Given the description of an element on the screen output the (x, y) to click on. 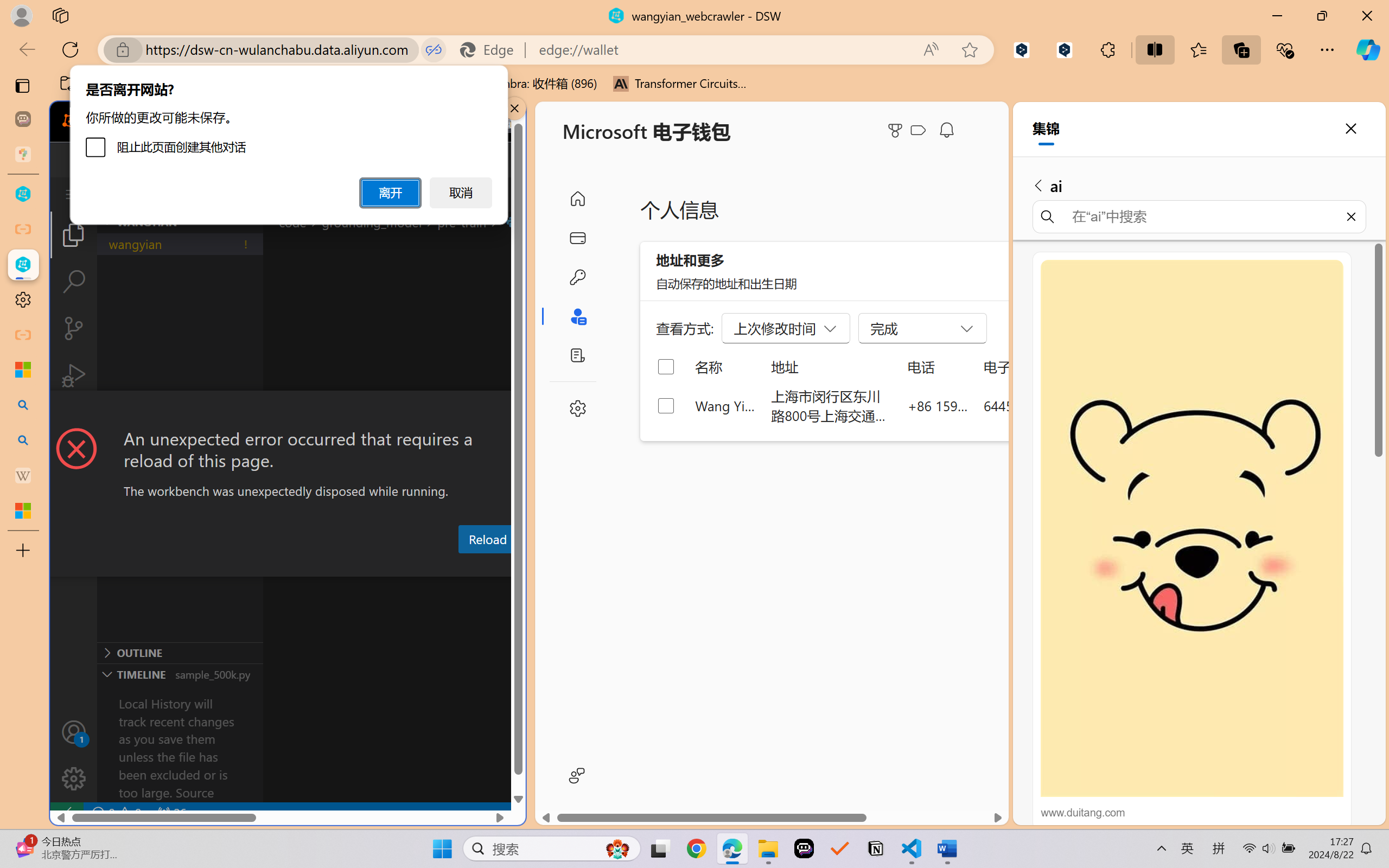
Terminal (Ctrl+`) (553, 565)
Copilot (Ctrl+Shift+.) (1368, 49)
Outline Section (179, 652)
